Given the description of an element on the screen output the (x, y) to click on. 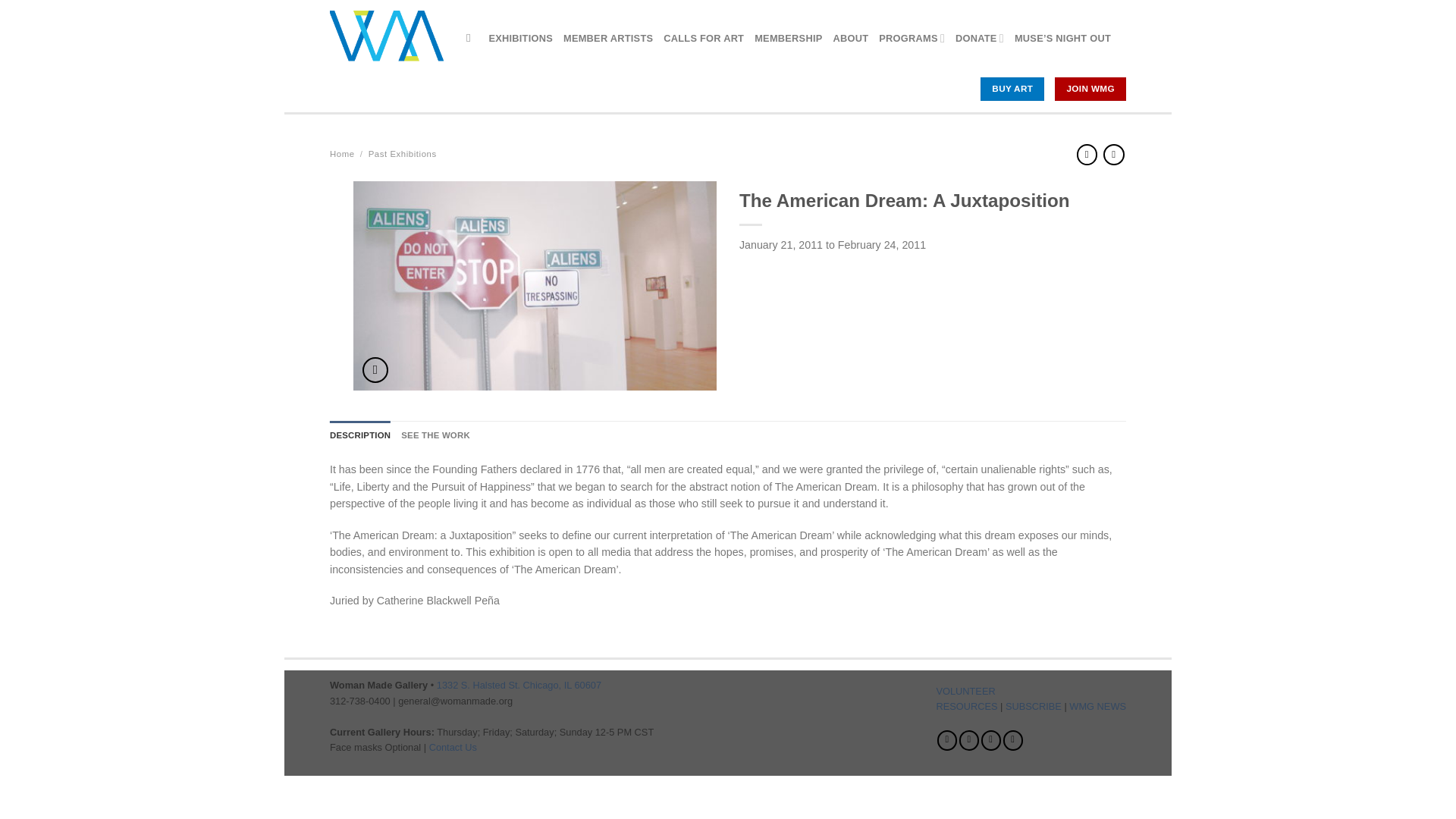
EXHIBITIONS (520, 37)
OLYMPUS DIGITAL CAMERA (534, 294)
CALLS FOR ART (703, 37)
Home (342, 153)
MEMBER ARTISTS (607, 37)
MEMBERSHIP (788, 37)
ABOUT (850, 37)
Past Exhibitions (402, 153)
Zoom (375, 370)
